Given the description of an element on the screen output the (x, y) to click on. 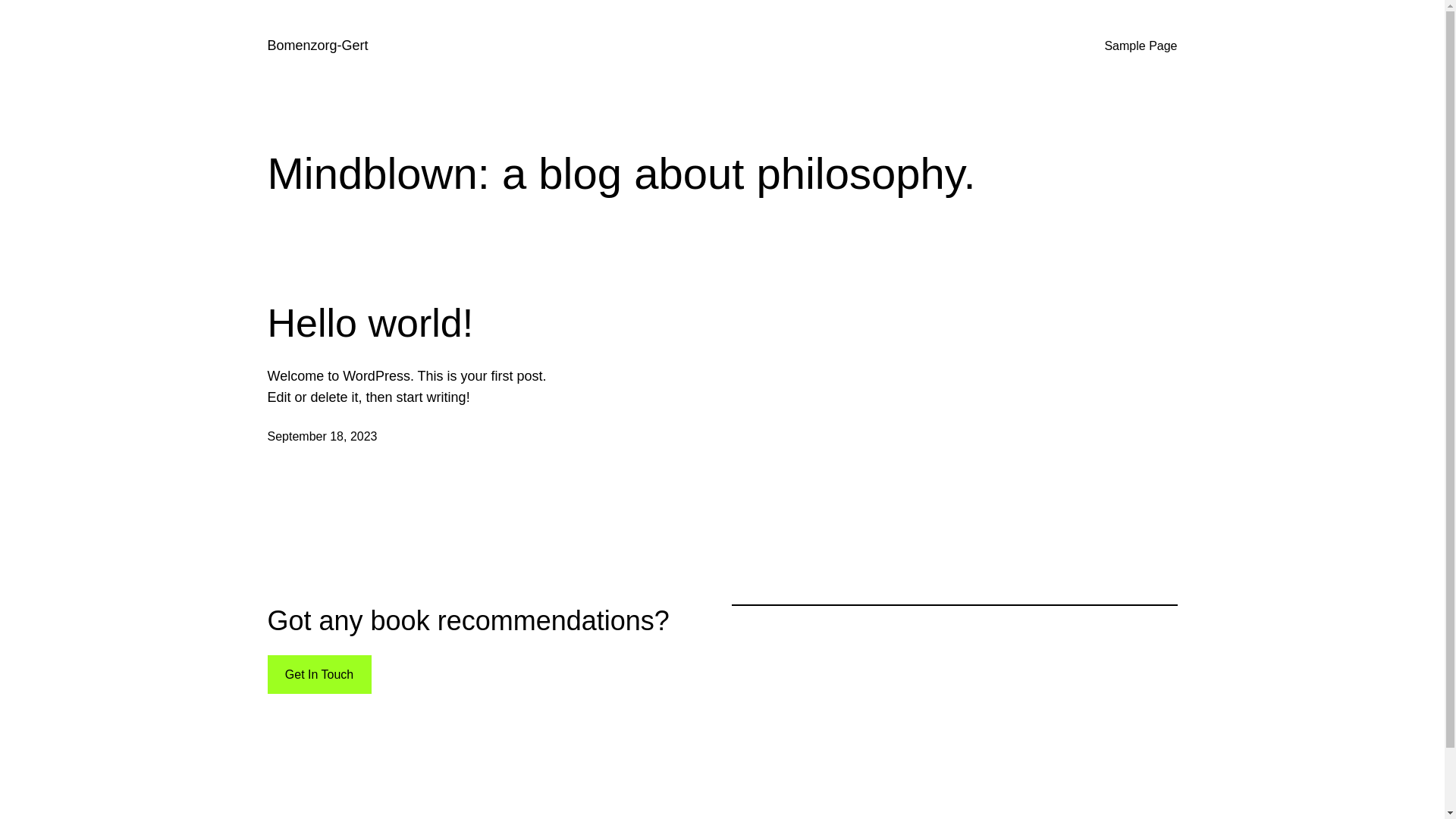
Hello world! Element type: text (369, 322)
Bomenzorg-Gert Element type: text (316, 45)
September 18, 2023 Element type: text (321, 435)
Sample Page Element type: text (1140, 46)
Get In Touch Element type: text (318, 674)
